Given the description of an element on the screen output the (x, y) to click on. 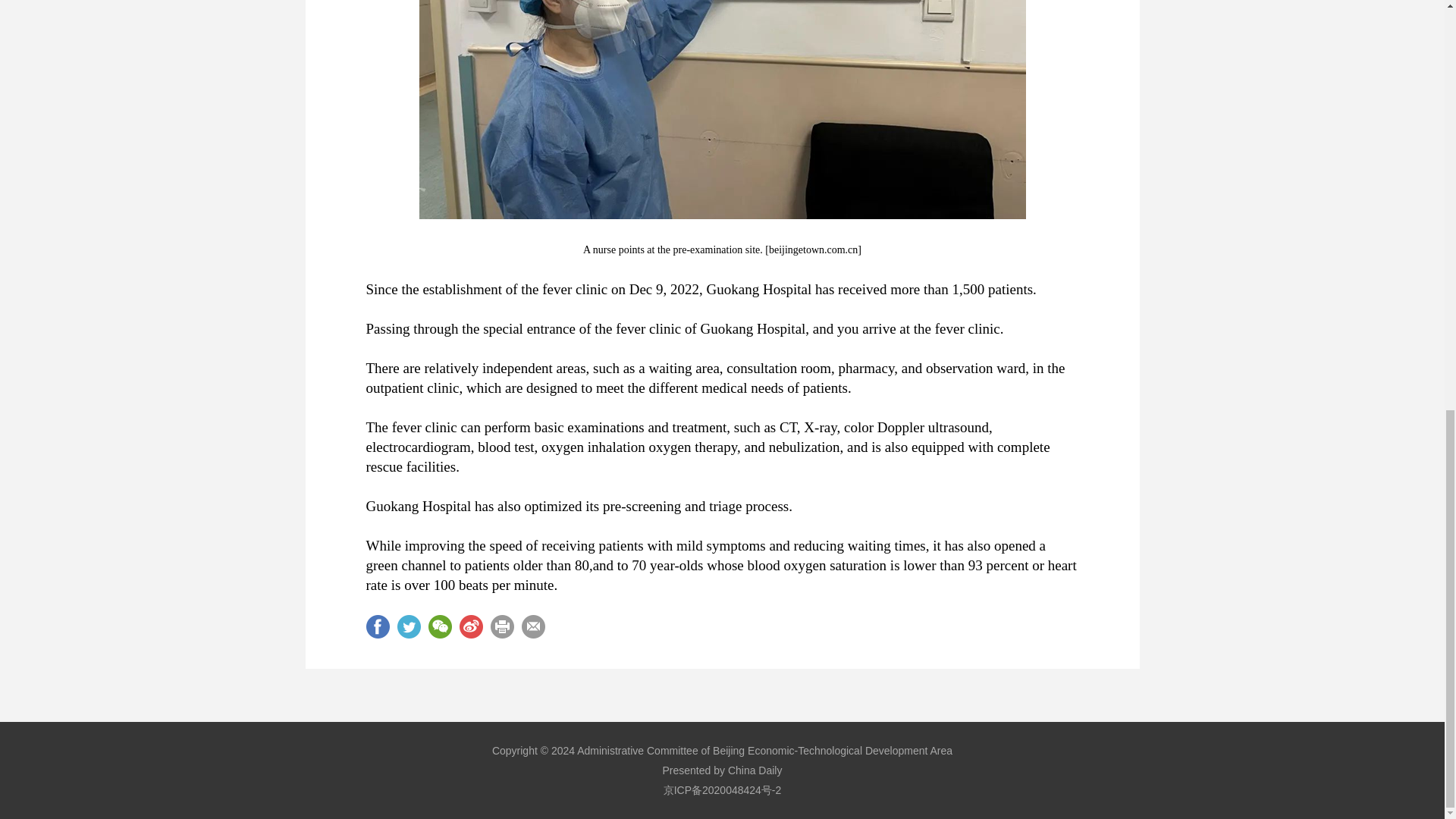
1673431203286041684.png (722, 109)
